Given the description of an element on the screen output the (x, y) to click on. 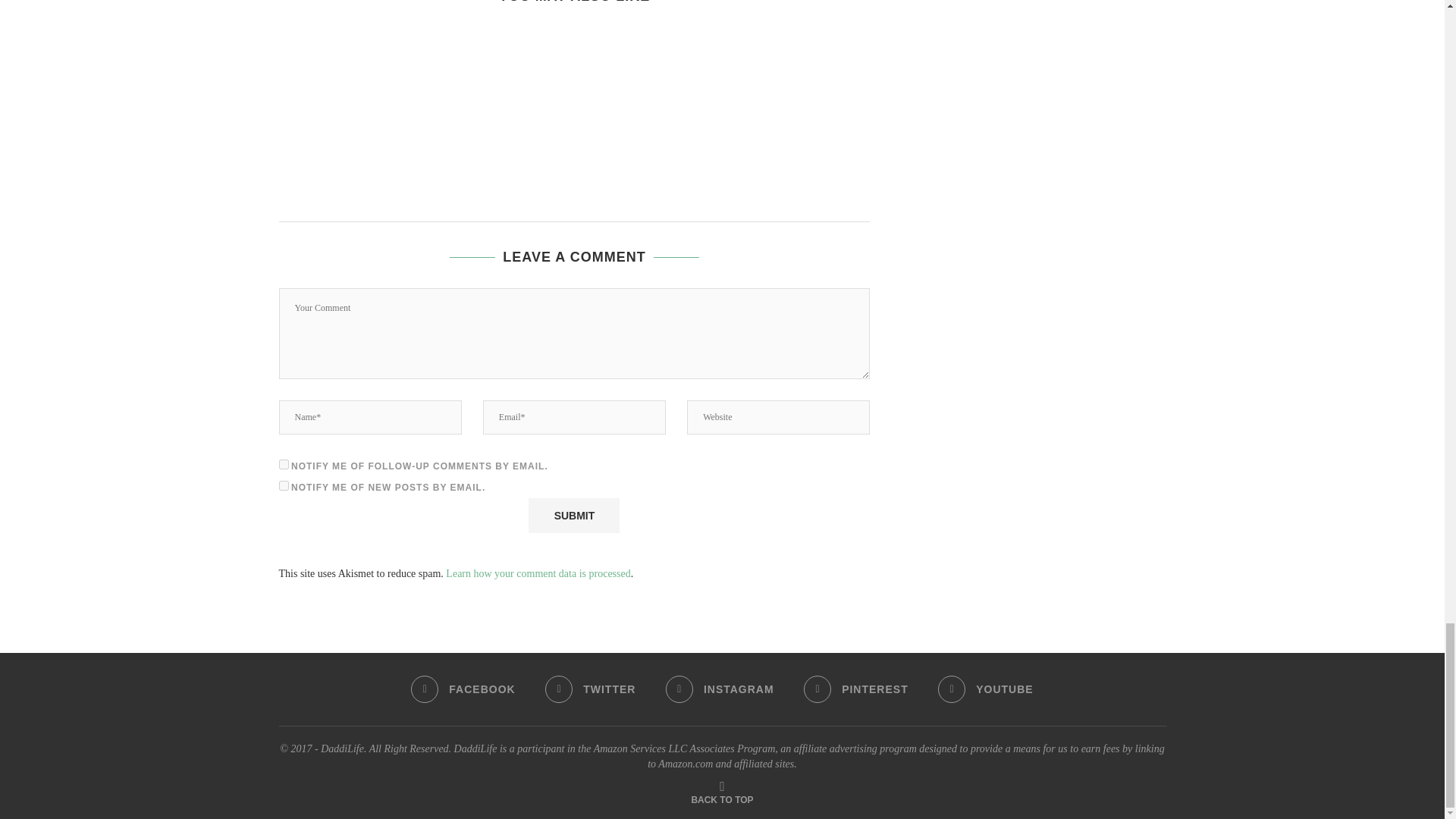
subscribe (283, 464)
Submit (574, 515)
subscribe (283, 485)
